Given the description of an element on the screen output the (x, y) to click on. 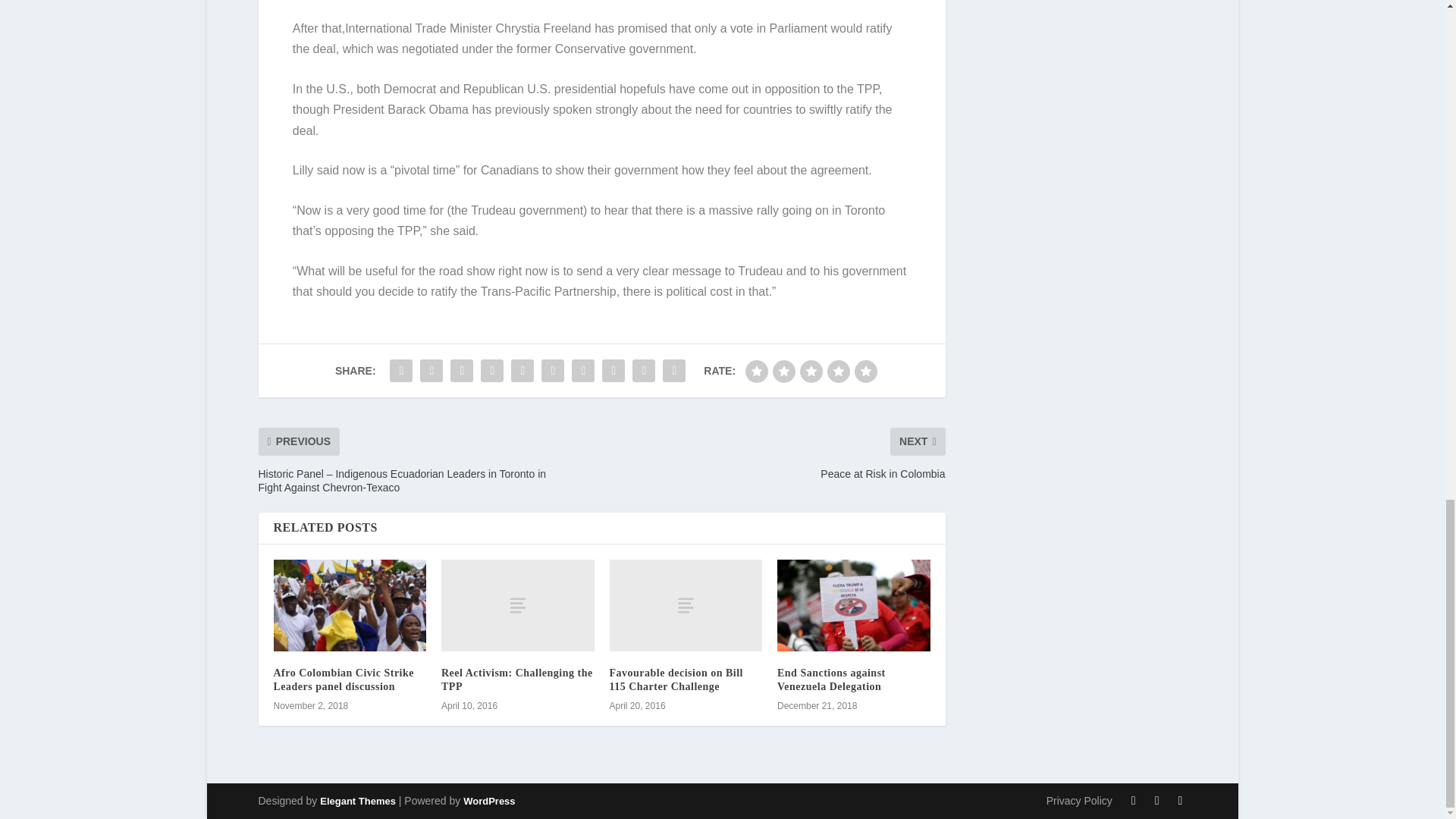
Reel Activism: Challenging the TPP (516, 679)
good (838, 371)
poor (783, 371)
regular (810, 371)
Afro Colombian Civic Strike Leaders panel discussion (343, 679)
bad (756, 371)
